Given the description of an element on the screen output the (x, y) to click on. 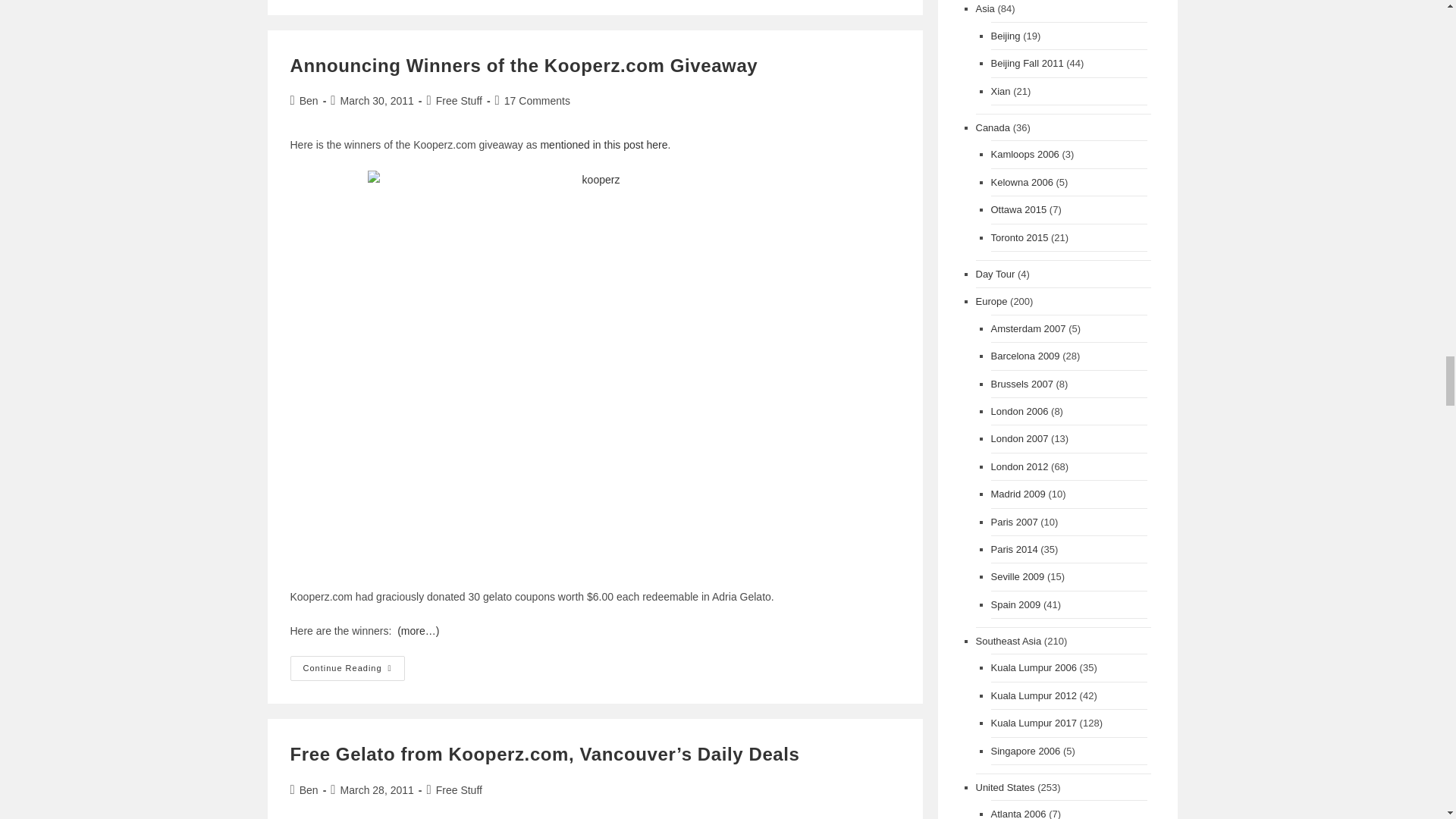
Posts by Ben (308, 789)
Posts by Ben (308, 101)
